Given the description of an element on the screen output the (x, y) to click on. 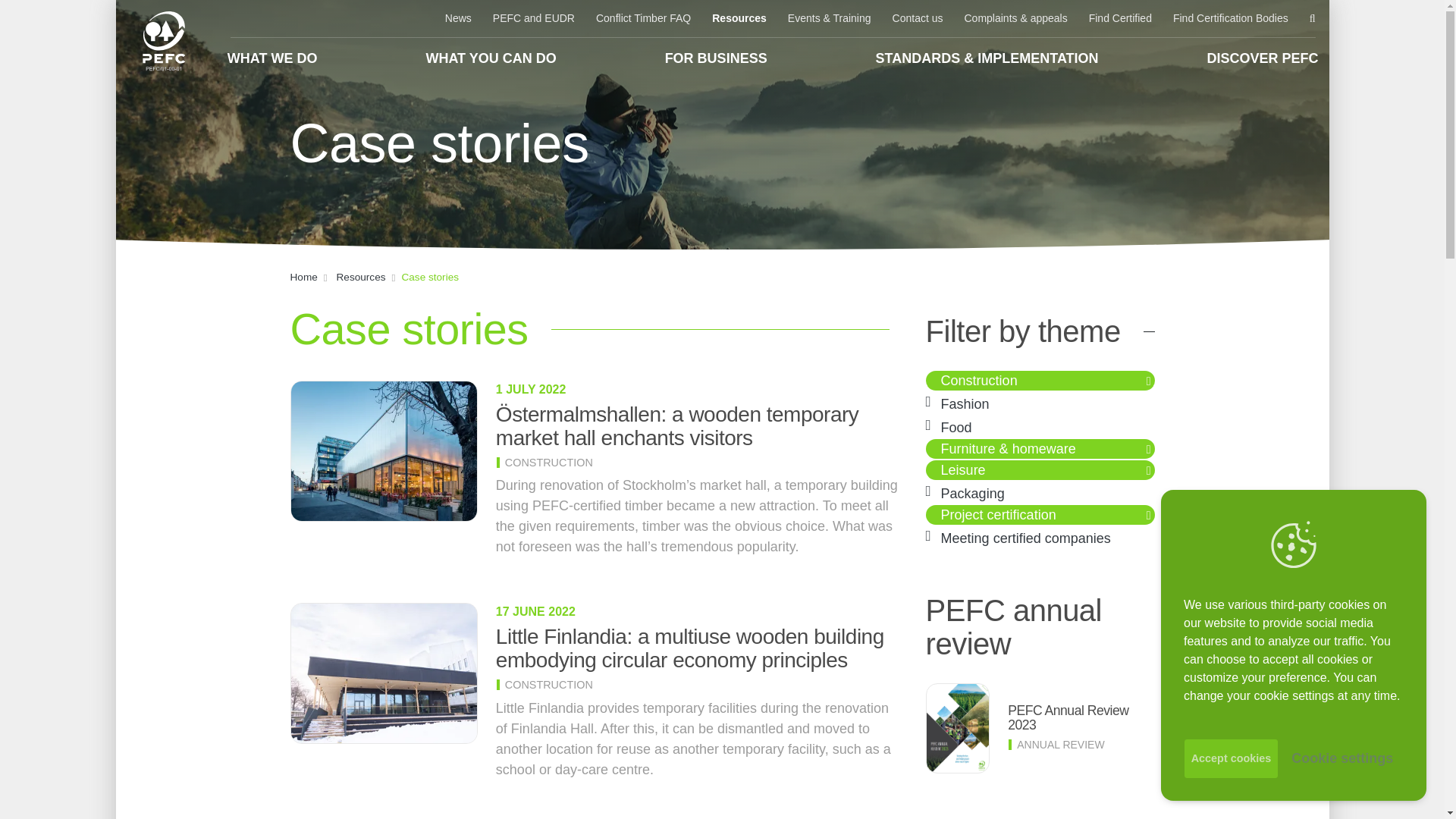
Resources (739, 18)
Conflict Timber FAQ (643, 18)
Remove filter (1150, 380)
News (457, 18)
WHAT YOU CAN DO (490, 58)
Find Certified (1119, 18)
Filter by Food (956, 427)
Filter by Packaging (972, 493)
Filter by Construction (978, 380)
PEFC and EUDR (533, 18)
Remove filter (1150, 448)
Accept cookies (1231, 758)
Cookie settings (1342, 757)
Find Certification Bodies (1229, 18)
Filter by Project certification (998, 514)
